Given the description of an element on the screen output the (x, y) to click on. 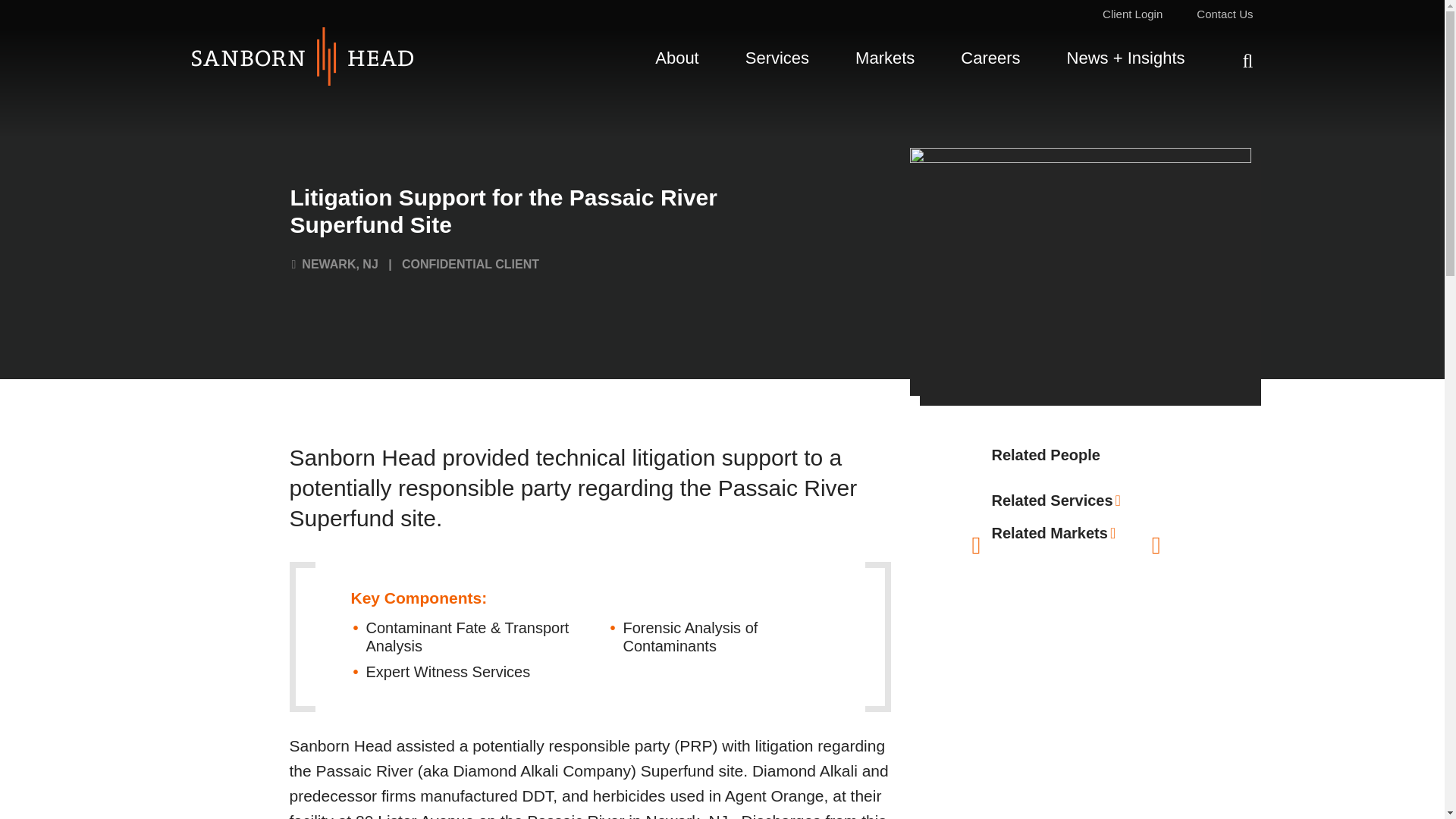
Services (777, 60)
Careers (990, 60)
Client Login (1131, 13)
Markets (885, 60)
About (676, 60)
